Given the description of an element on the screen output the (x, y) to click on. 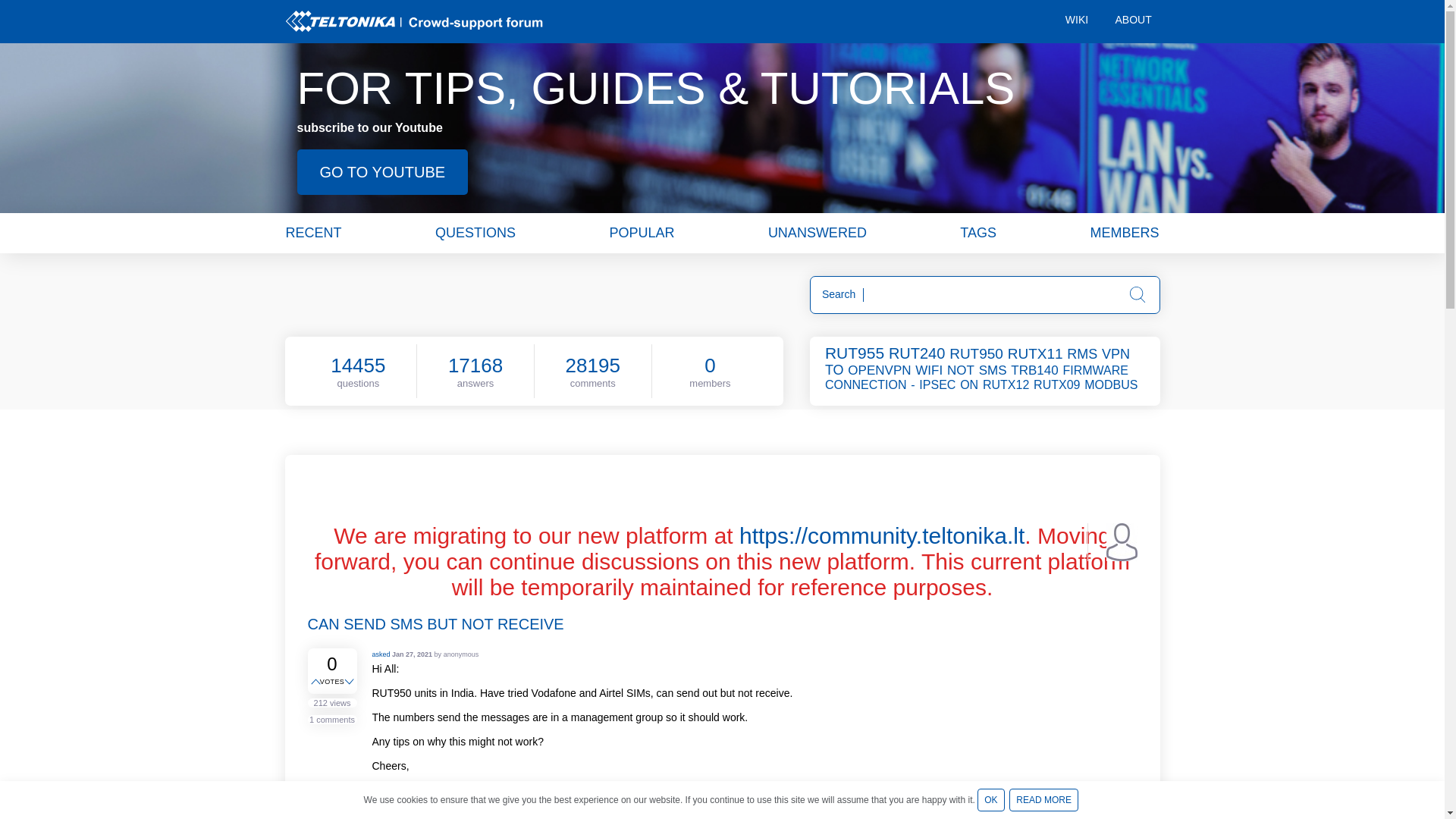
RUTX12 (1006, 384)
ON (969, 384)
RUT240 (917, 352)
RUT955 (855, 352)
FIRMWARE (1096, 369)
VPN (1117, 353)
asked (380, 654)
OPENVPN (879, 370)
GO TO YOUTUBE (382, 171)
Click to vote up (317, 682)
MODBUS (1112, 384)
UNANSWERED (817, 232)
RUTX11 (1036, 353)
NOT (961, 370)
IPSEC (938, 384)
